Given the description of an element on the screen output the (x, y) to click on. 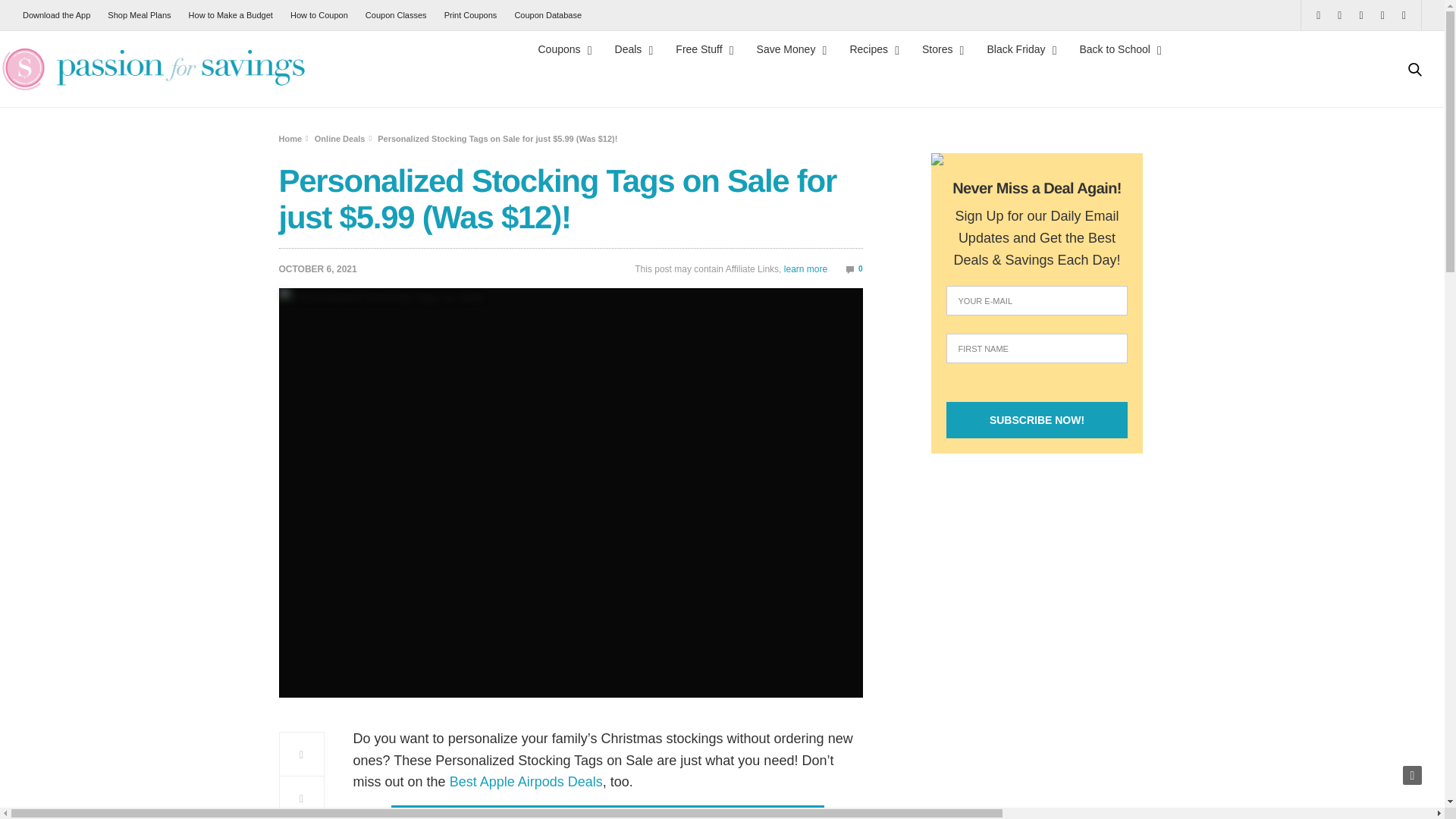
Subscribe Now! (1037, 420)
